Given the description of an element on the screen output the (x, y) to click on. 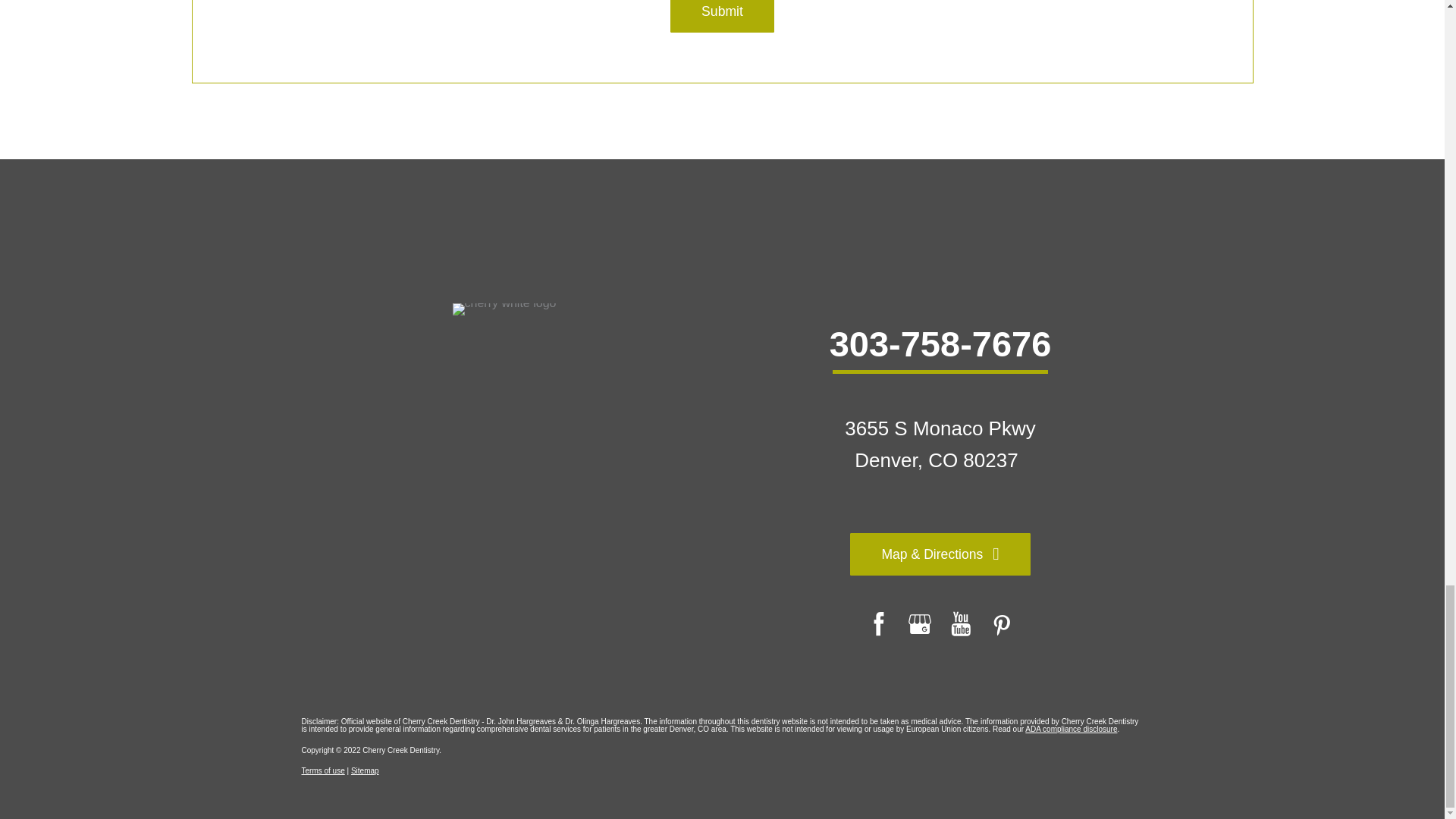
Submit (721, 16)
cherry white logo (504, 309)
